Given the description of an element on the screen output the (x, y) to click on. 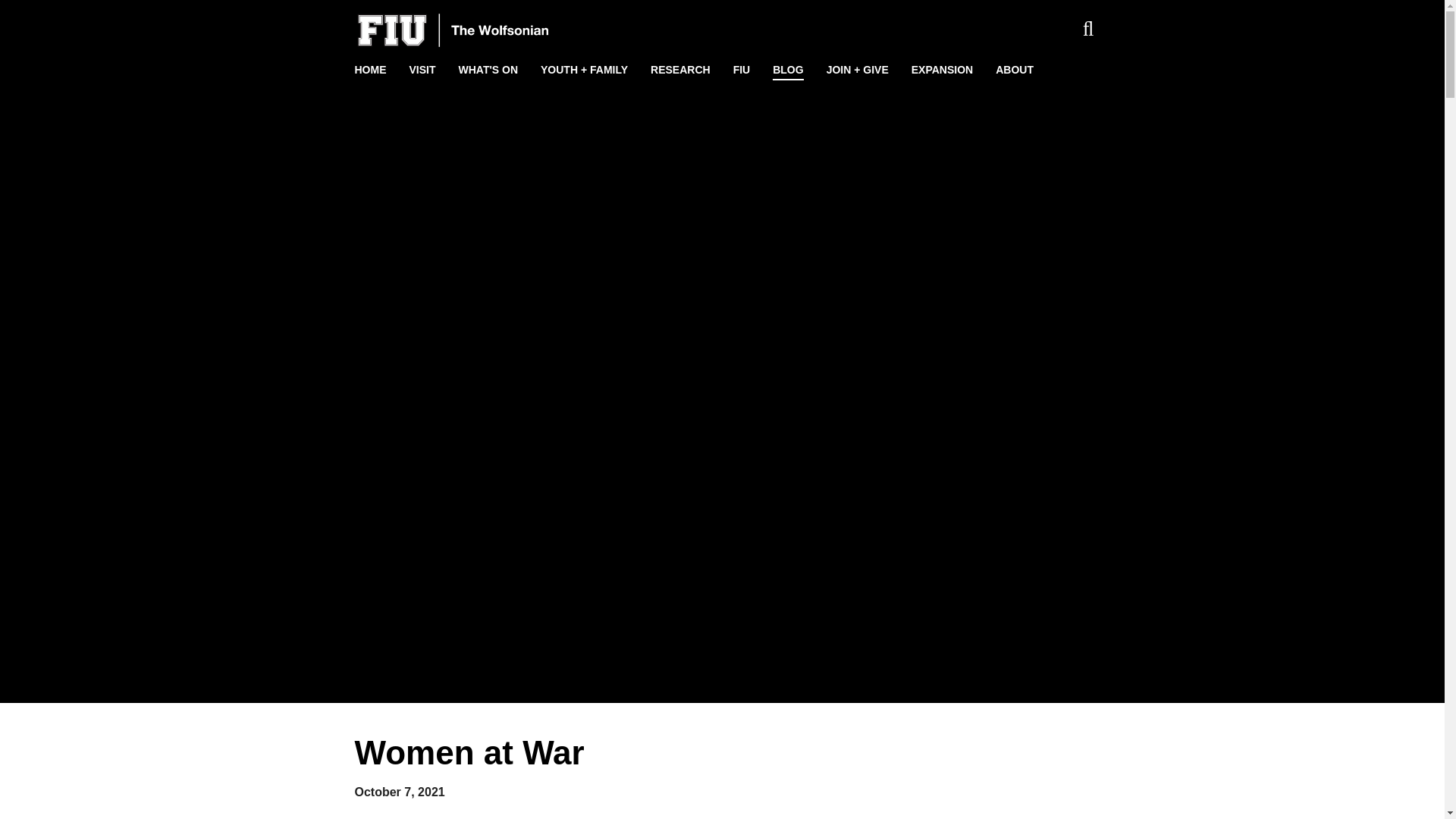
Rentals (102, 170)
Publications (102, 243)
Annual Reports (102, 268)
EXPANSION (941, 70)
ABOUT (1014, 70)
BLOG (787, 70)
RESEARCH (680, 70)
VISIT (421, 70)
Shop (102, 195)
Tours (102, 146)
